Given the description of an element on the screen output the (x, y) to click on. 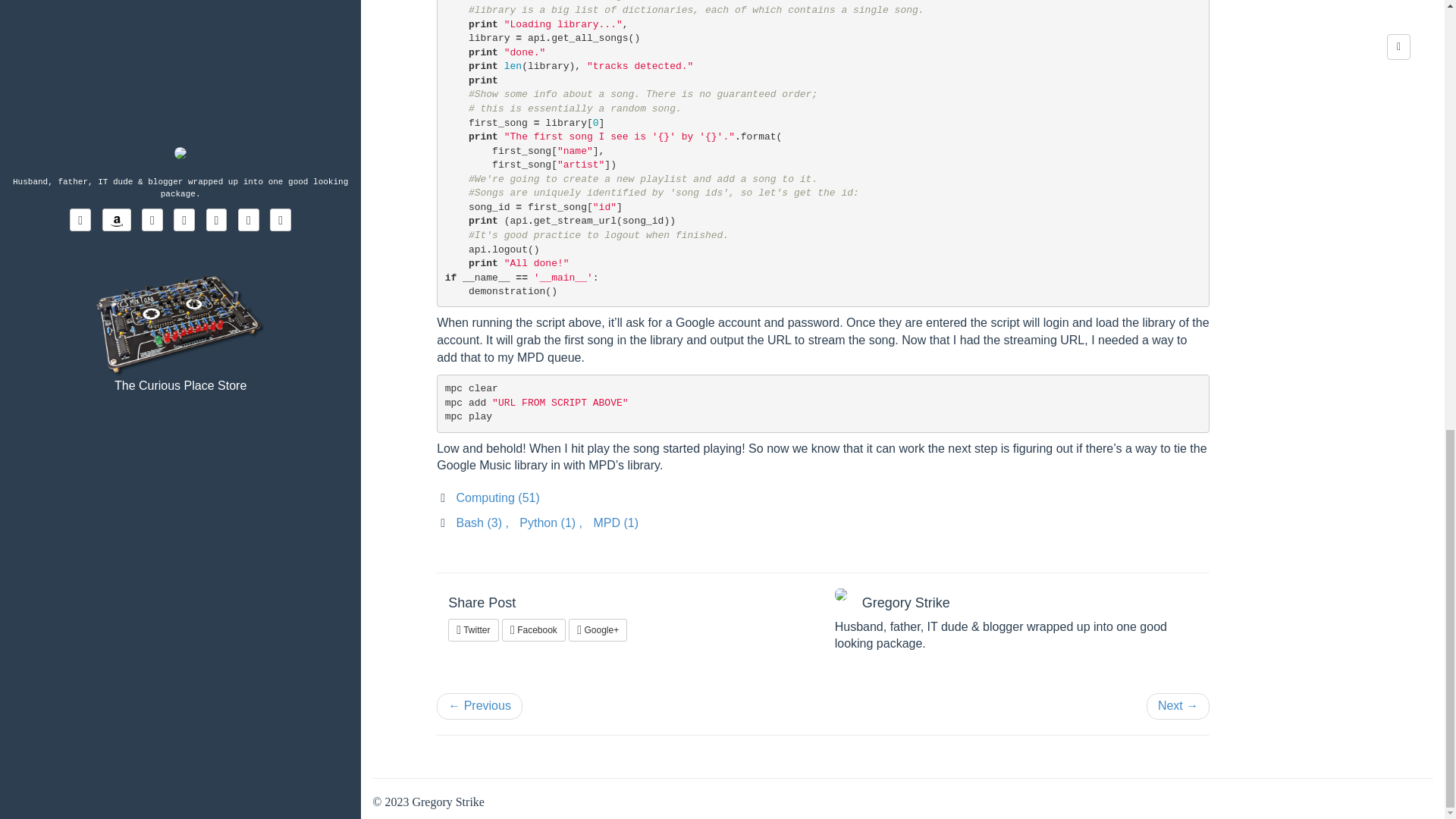
Twitter (472, 630)
Facebook (534, 630)
